Given the description of an element on the screen output the (x, y) to click on. 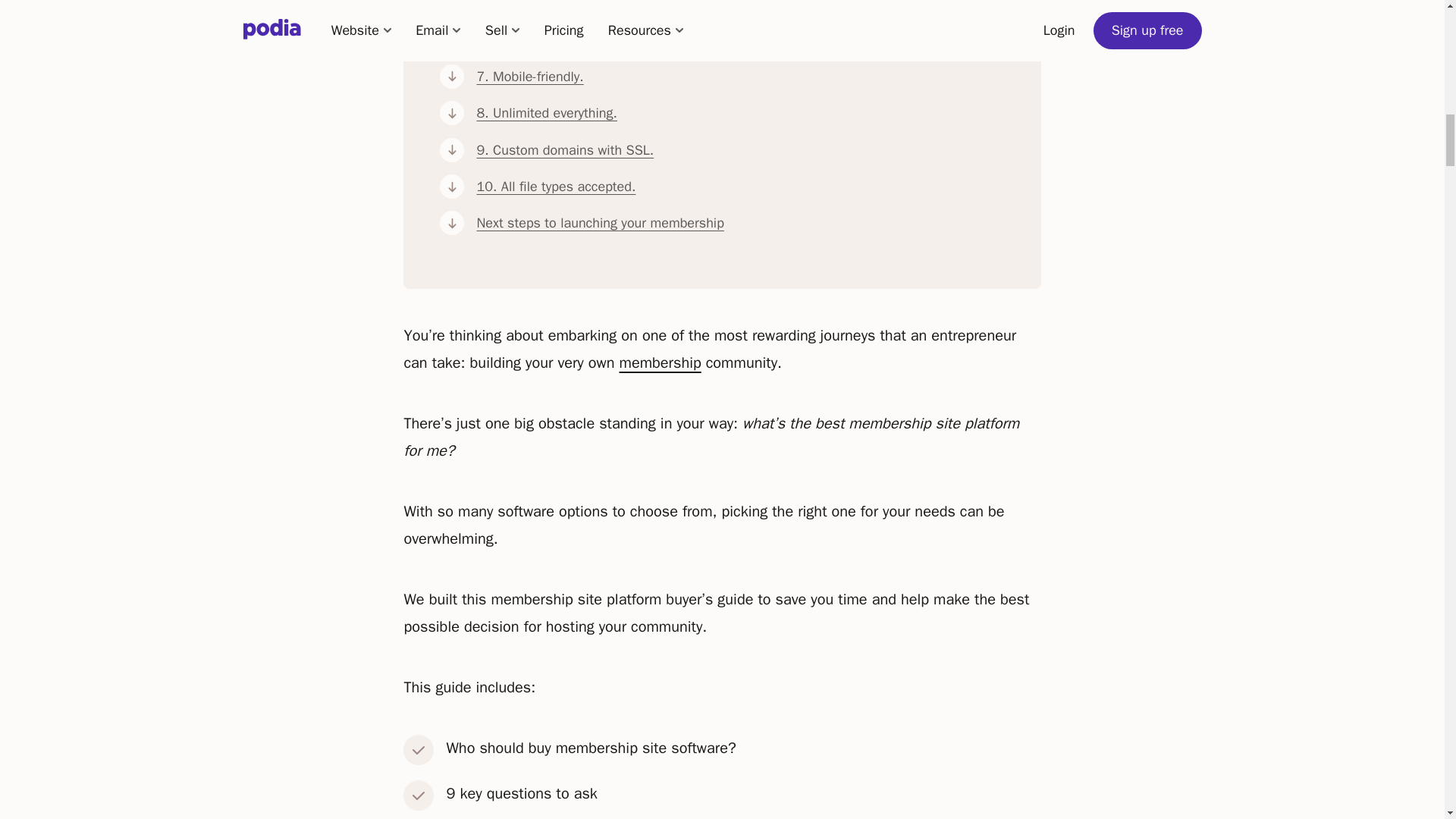
5. Content hosting. (743, 7)
Next steps to launching your membership (743, 222)
10. All file types accepted. (743, 186)
6. Affiliate marketing. (743, 39)
membership (659, 362)
7. Mobile-friendly. (743, 76)
9. Custom domains with SSL. (743, 150)
8. Unlimited everything. (743, 112)
